Given the description of an element on the screen output the (x, y) to click on. 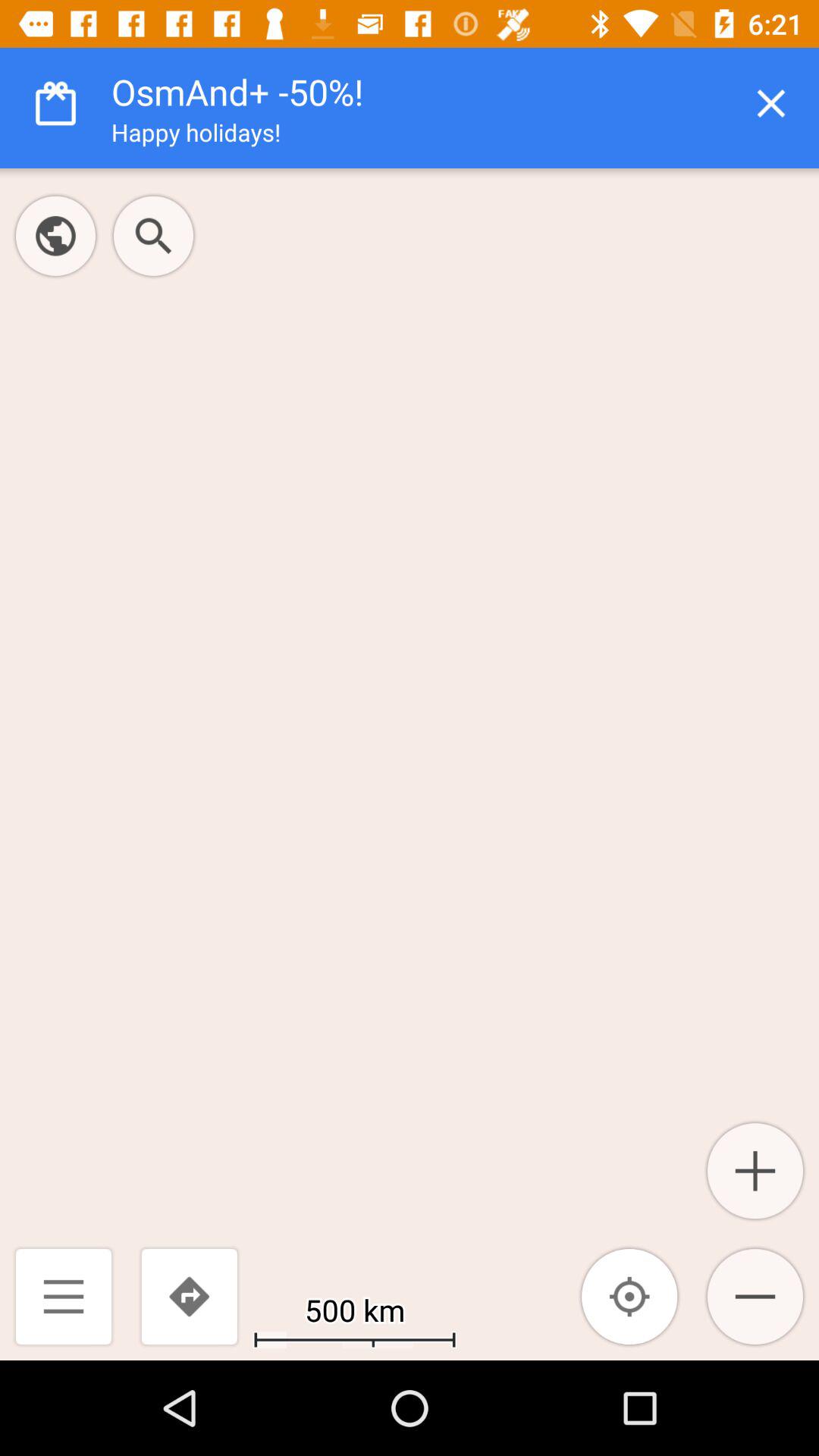
select icon next to osmand+ -50%! (771, 103)
